Given the description of an element on the screen output the (x, y) to click on. 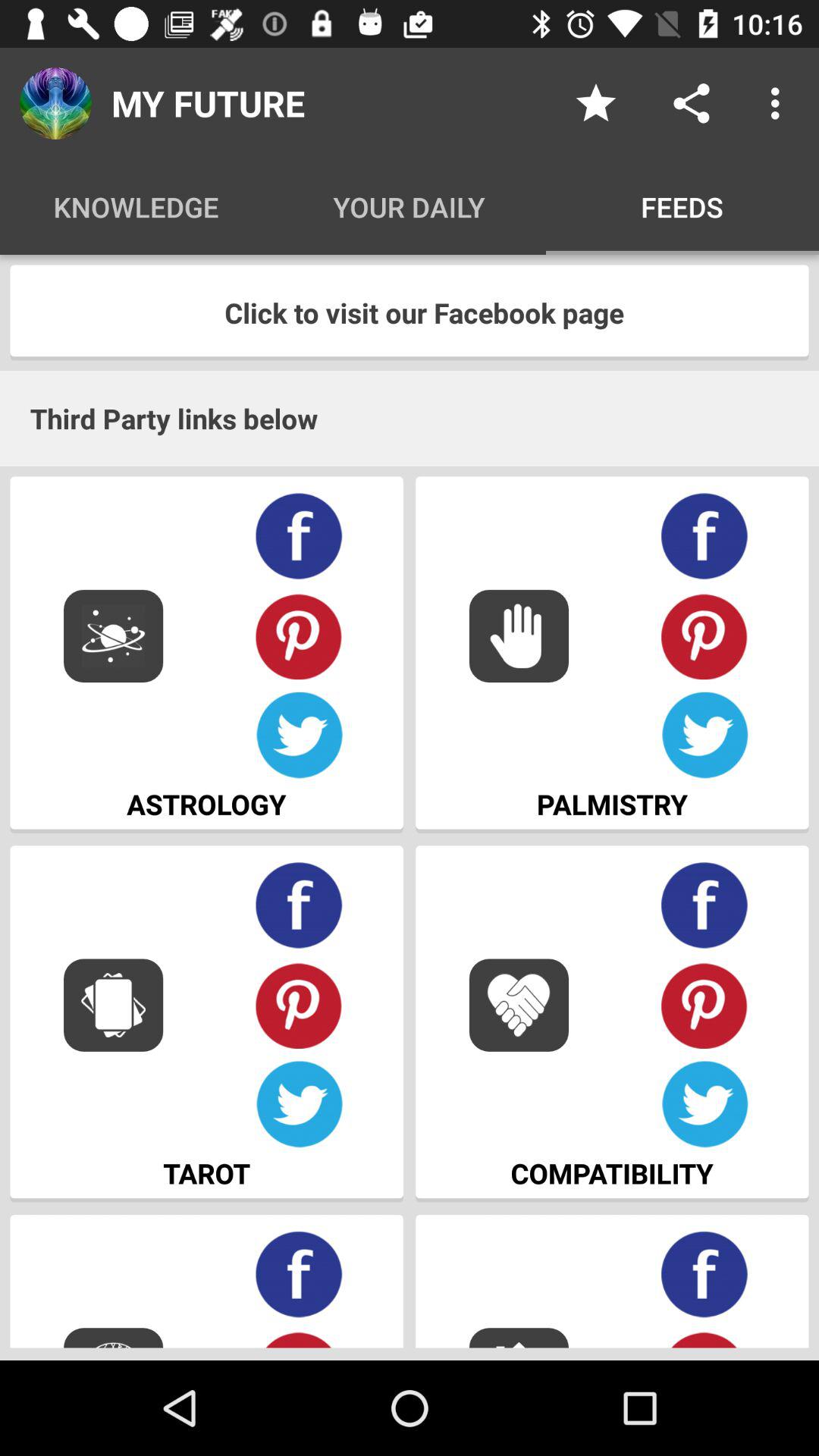
open facebook (299, 1274)
